Given the description of an element on the screen output the (x, y) to click on. 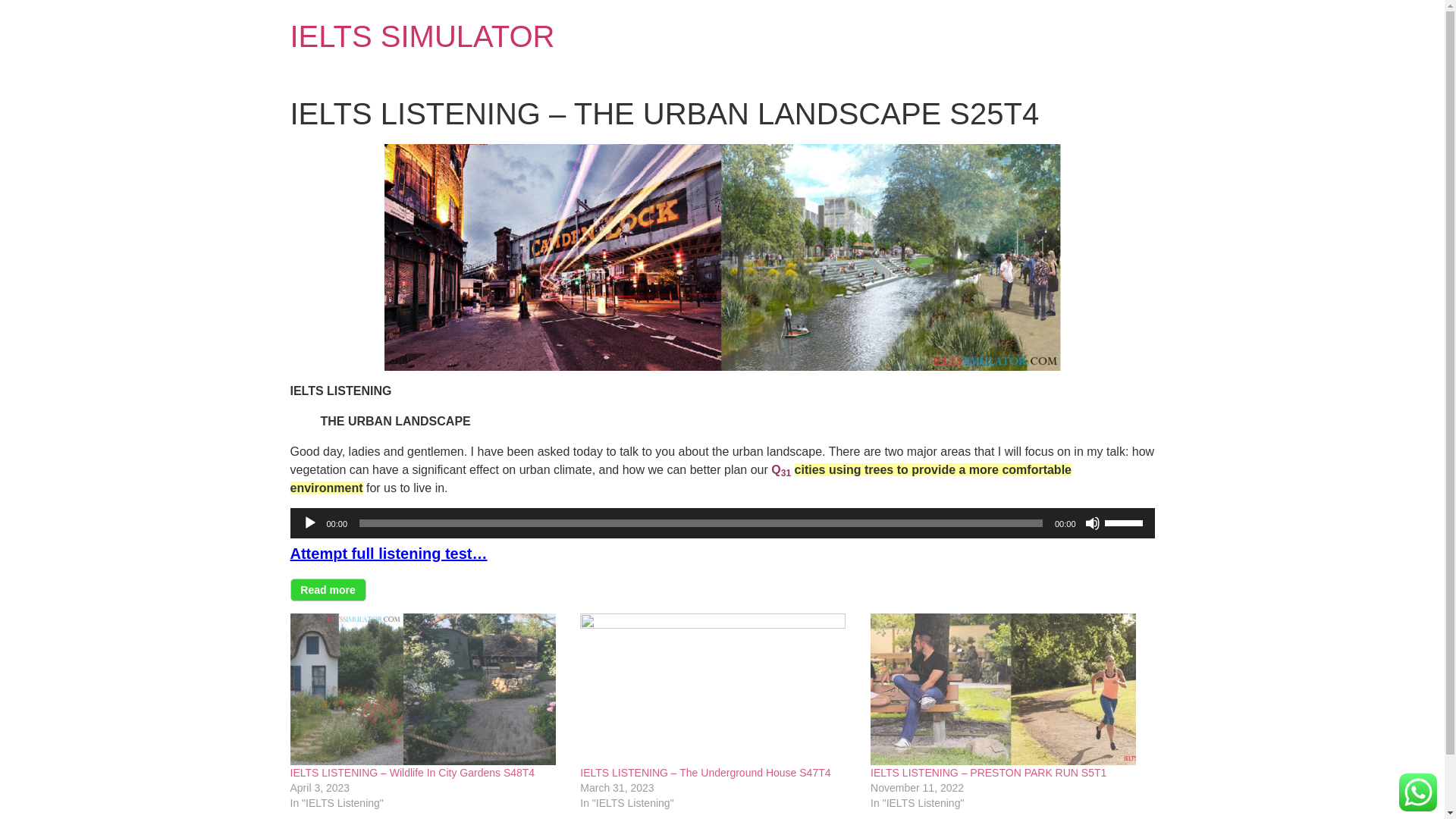
Mute (1091, 522)
Play (309, 522)
IELTS SIMULATOR (421, 36)
Home (421, 36)
Read More (327, 589)
